Given the description of an element on the screen output the (x, y) to click on. 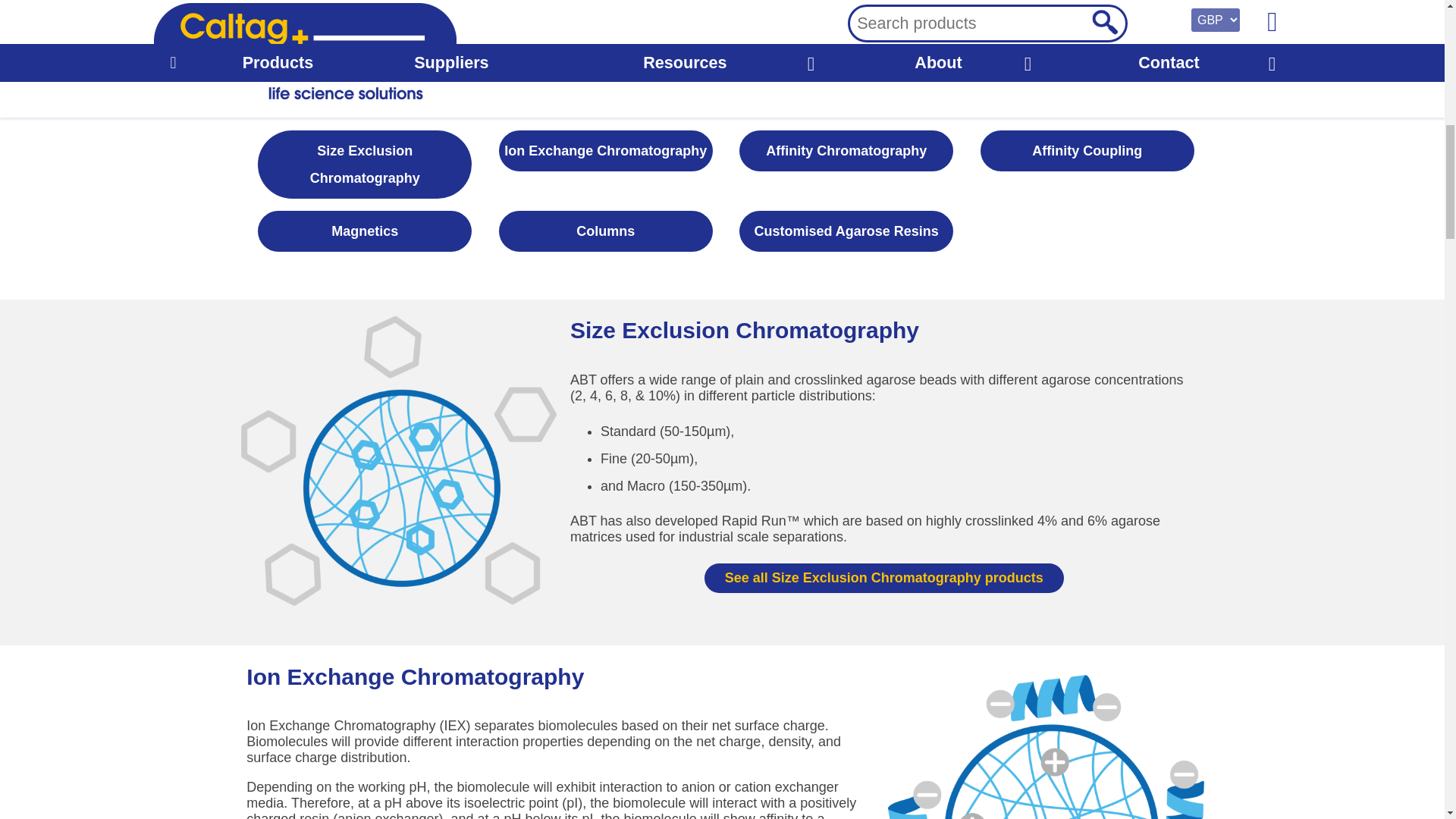
See all ABT Products (722, 22)
Ion Exchange Chromatography (1046, 734)
See all Size Exclusion Chromatography products (884, 578)
Size Exclusion Chromatography (399, 461)
